Given the description of an element on the screen output the (x, y) to click on. 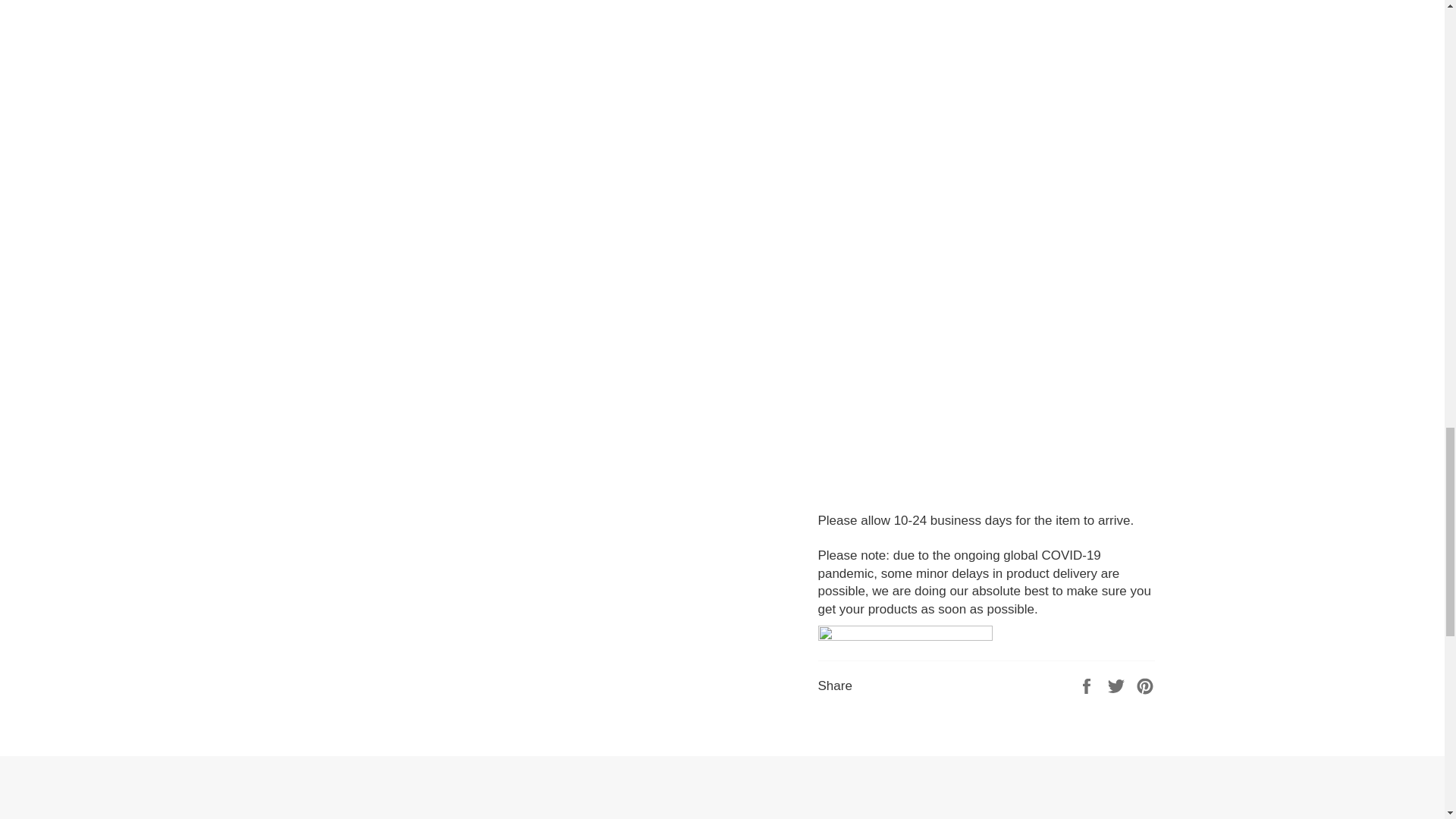
Pin on Pinterest (1144, 685)
Share on Facebook (1088, 685)
Tweet on Twitter (1117, 685)
